Given the description of an element on the screen output the (x, y) to click on. 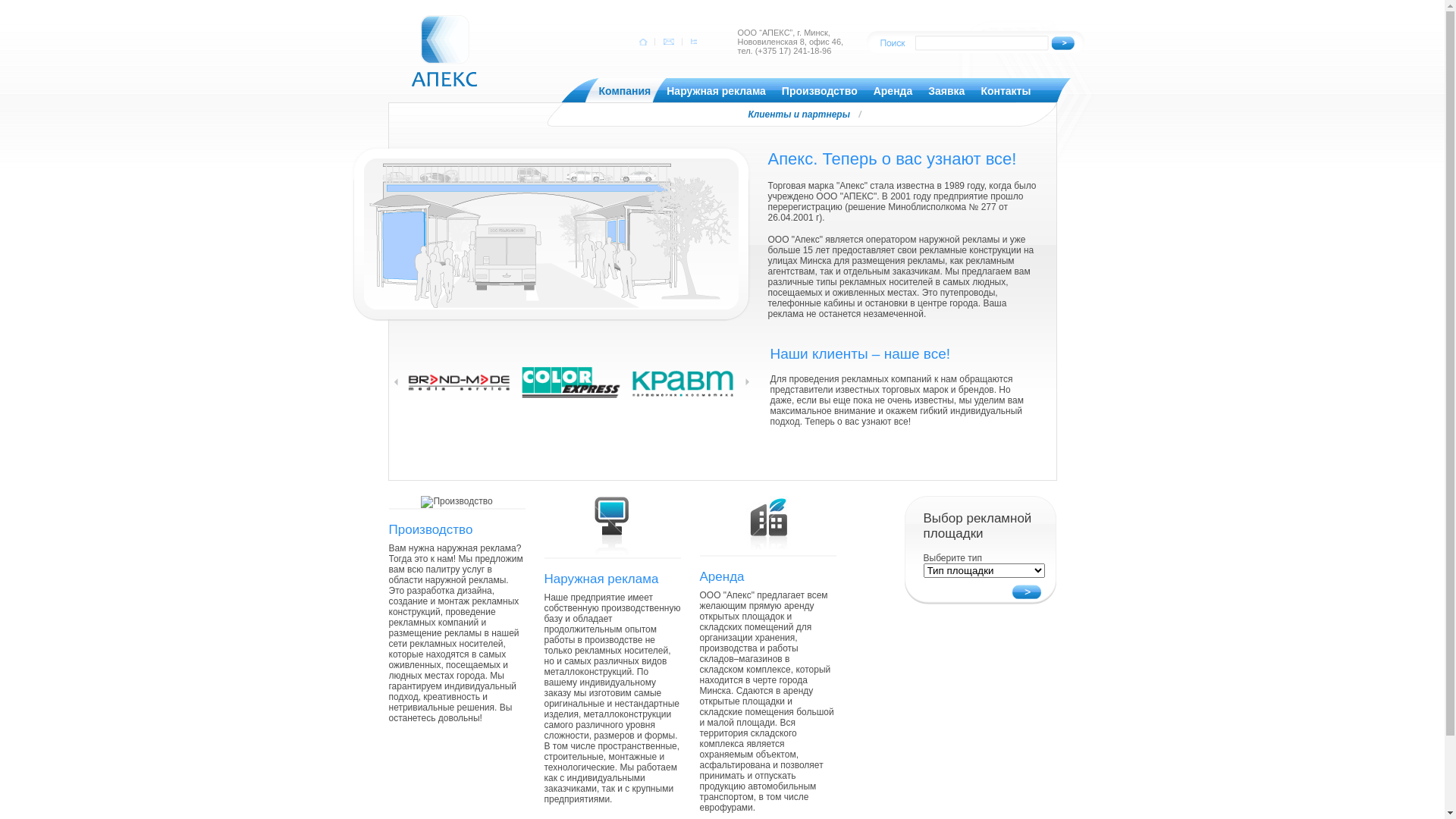
  Element type: text (643, 41)
  Element type: text (667, 41)
  Element type: text (691, 41)
